Given the description of an element on the screen output the (x, y) to click on. 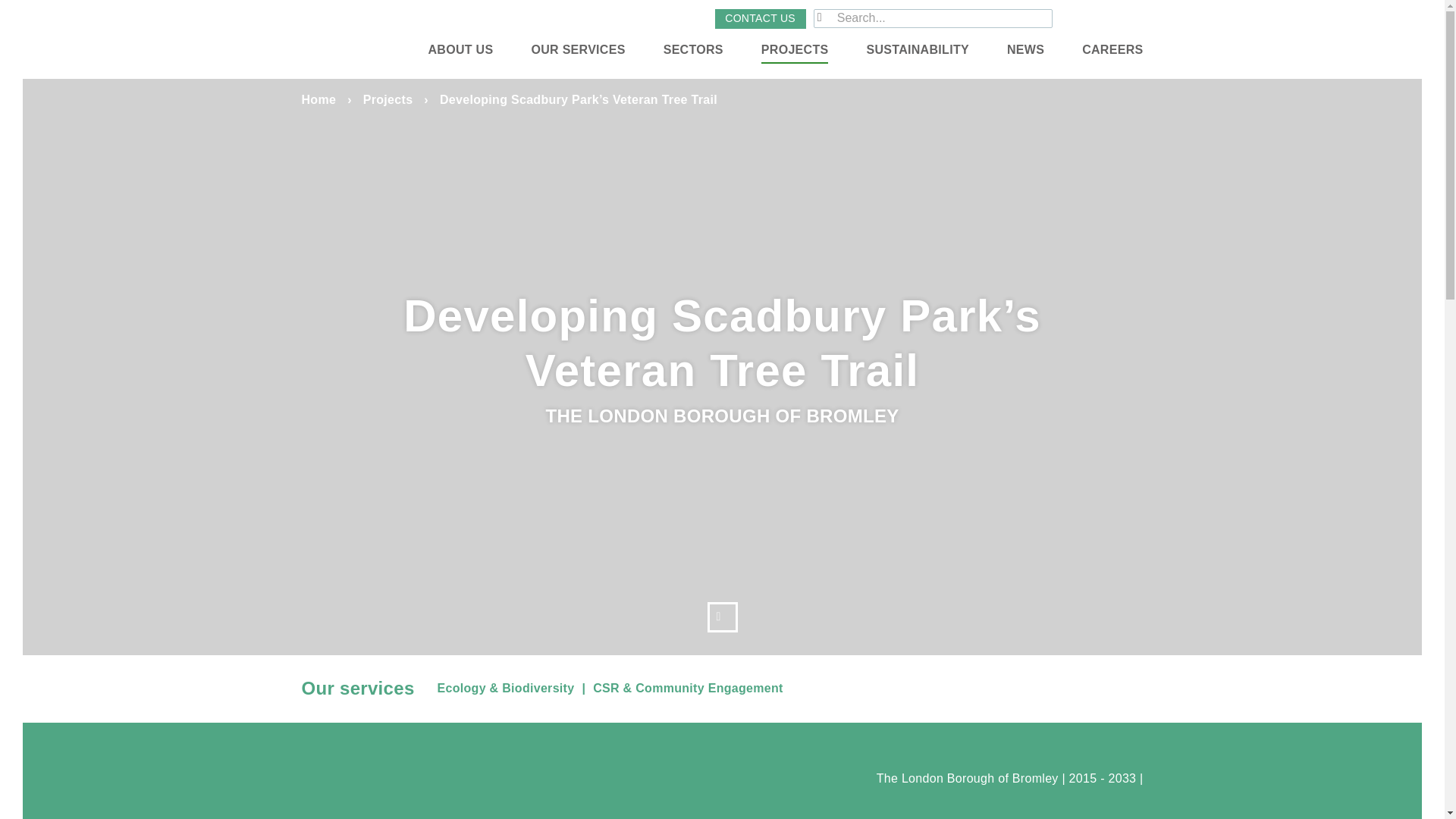
NEWS (1025, 50)
PROJECTS (794, 50)
Home (318, 99)
SECTORS (693, 50)
CONTACT US (759, 18)
CAREERS (1111, 50)
OUR SERVICES (577, 50)
SUSTAINABILITY (917, 50)
ABOUT US (460, 50)
